Given the description of an element on the screen output the (x, y) to click on. 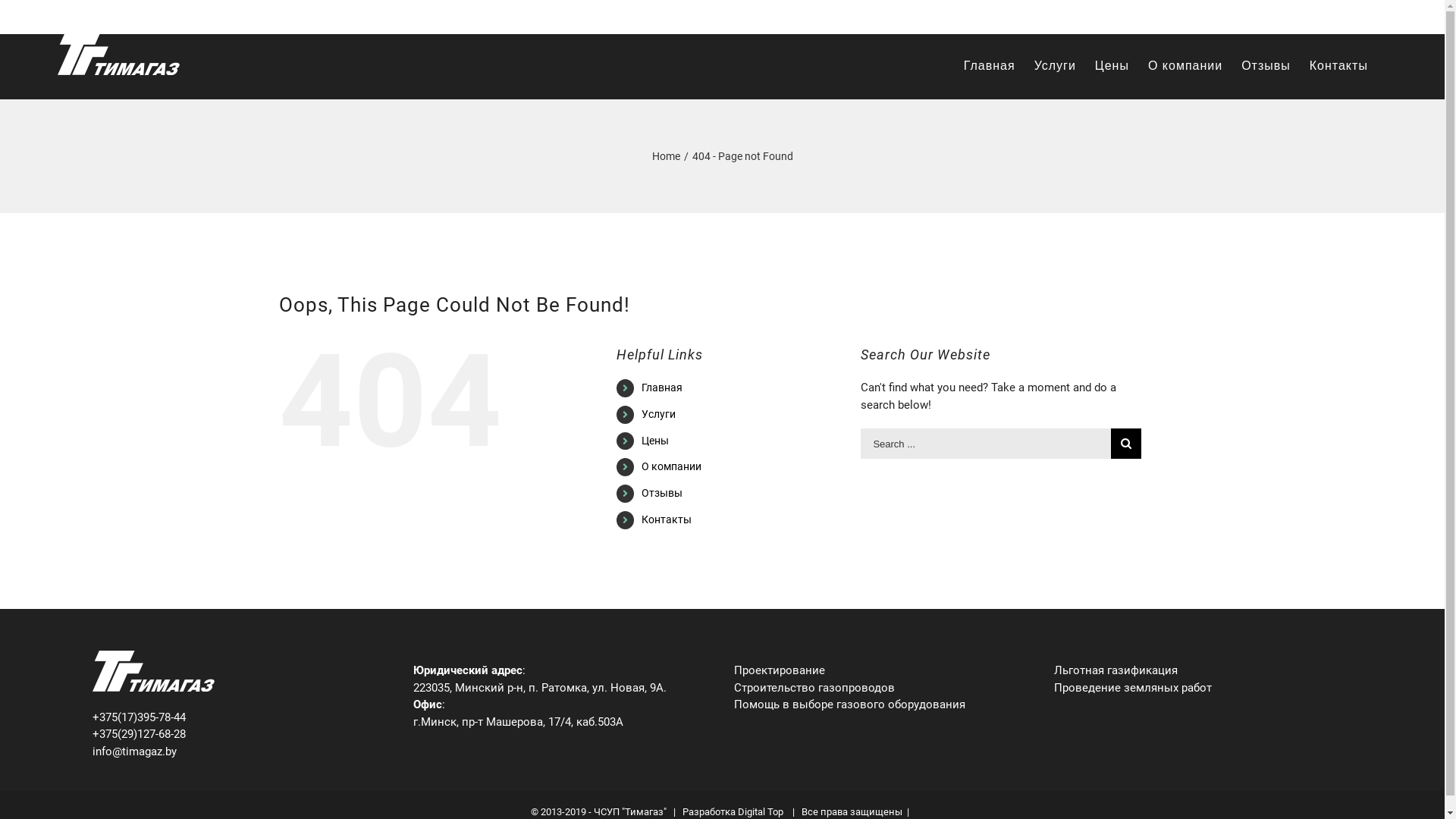
+375(17)395-78-44 Element type: text (241, 717)
info@timagaz.by Element type: text (1345, 16)
Home Element type: text (666, 156)
+375(29)127-68-28 Element type: text (241, 734)
info@timagaz.by Element type: text (241, 751)
